Given the description of an element on the screen output the (x, y) to click on. 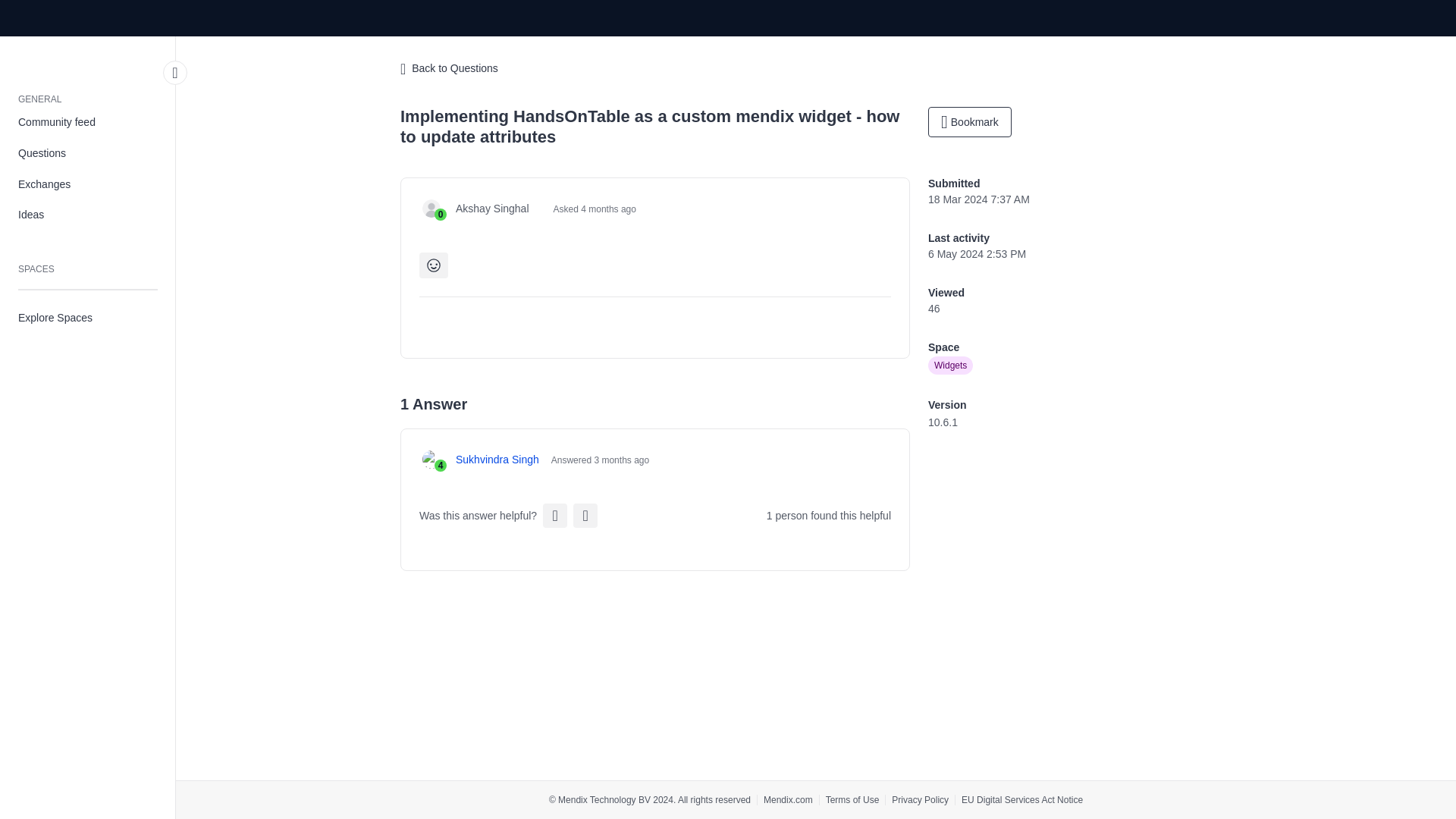
EU Digital Services Act Notice (1021, 799)
Questions (87, 153)
Sukhvindra Singh (496, 459)
Widgets (950, 365)
Back to Questions (448, 68)
Ideas (87, 214)
Bookmark (969, 122)
Exchanges (87, 183)
Mendix.com (787, 799)
Explore Spaces (87, 317)
